Given the description of an element on the screen output the (x, y) to click on. 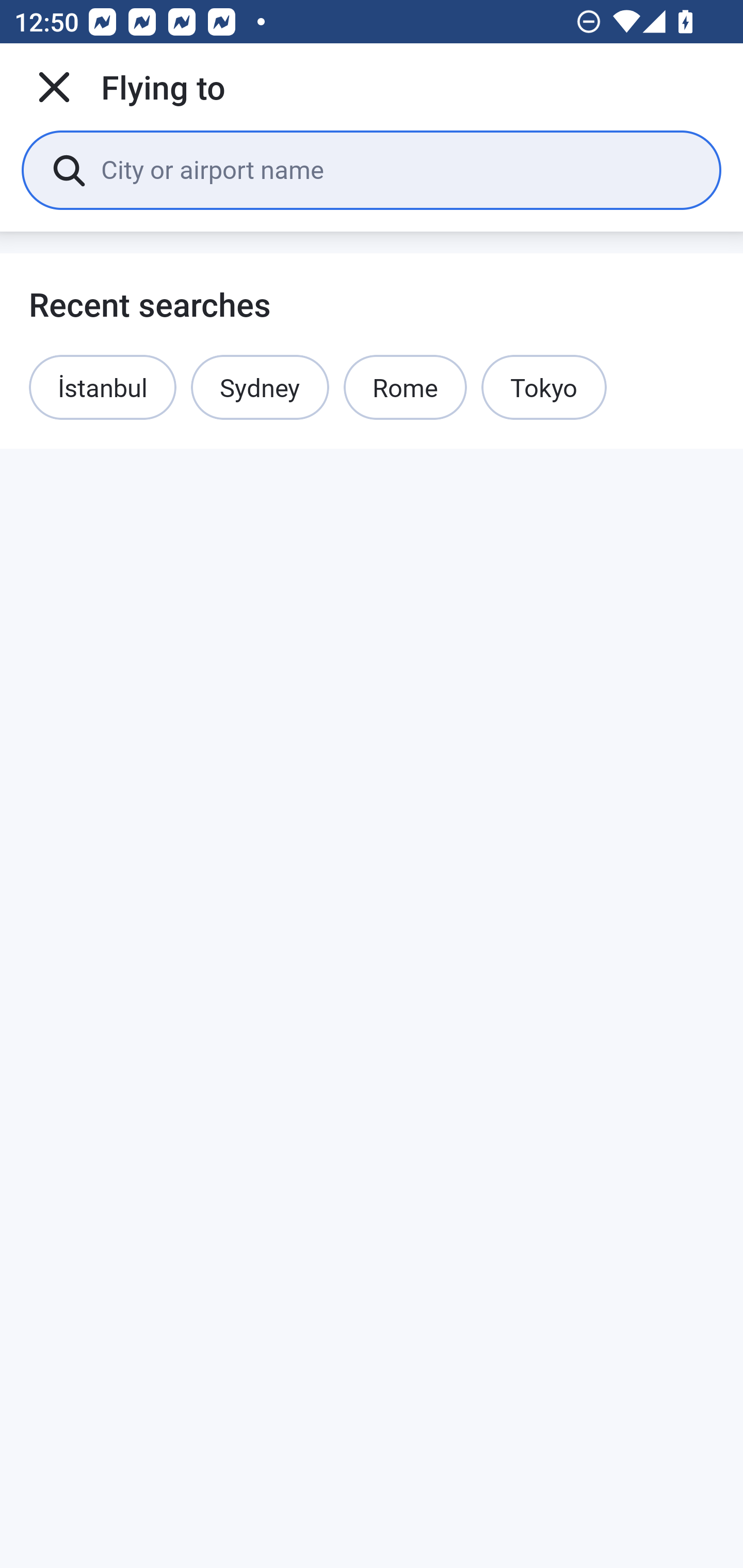
City or airport name (396, 169)
İstanbul (102, 387)
Sydney (259, 387)
Rome (404, 387)
Tokyo (544, 387)
